Given the description of an element on the screen output the (x, y) to click on. 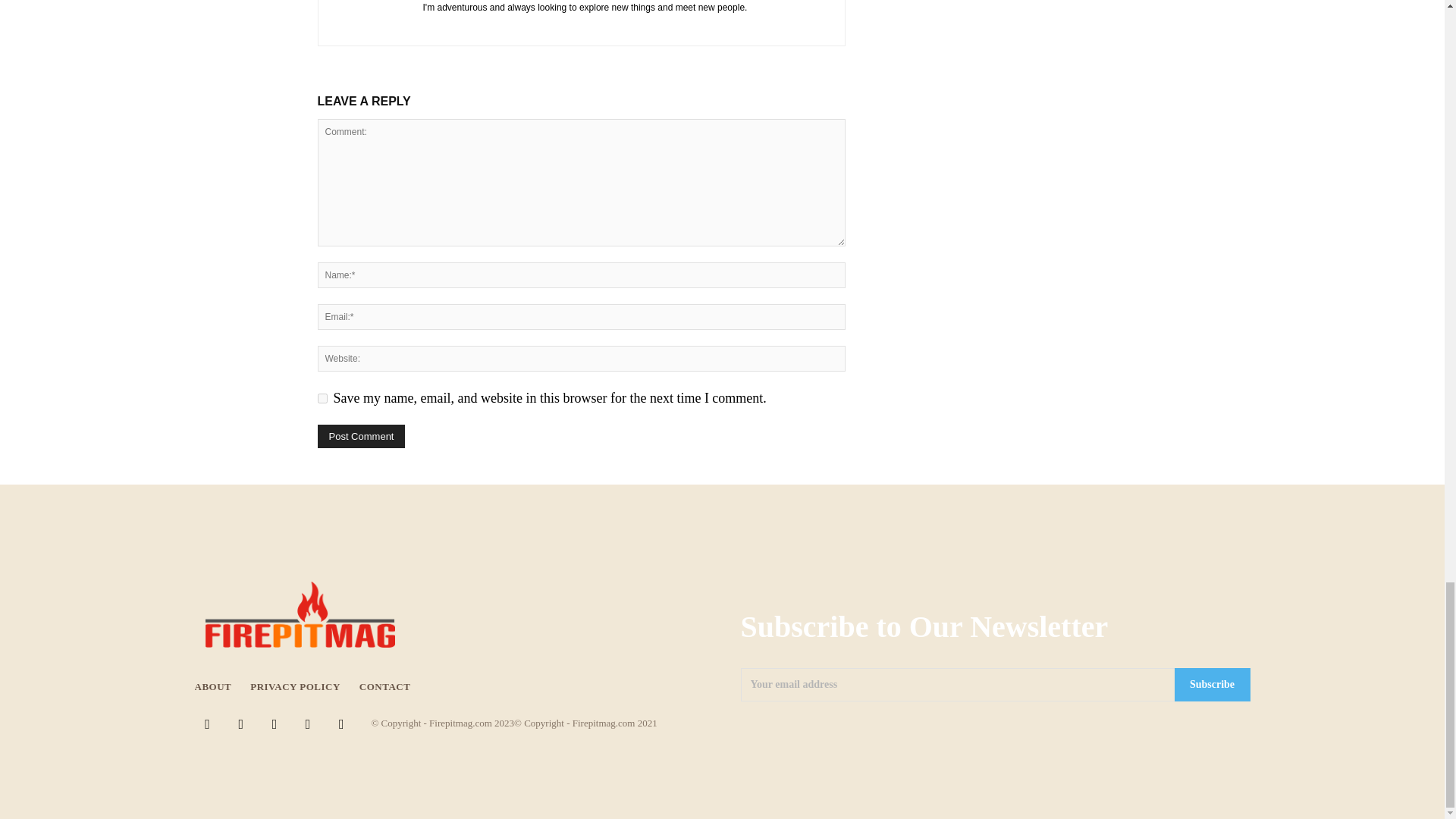
yes (321, 398)
Post Comment (360, 436)
Post Comment (360, 436)
